Given the description of an element on the screen output the (x, y) to click on. 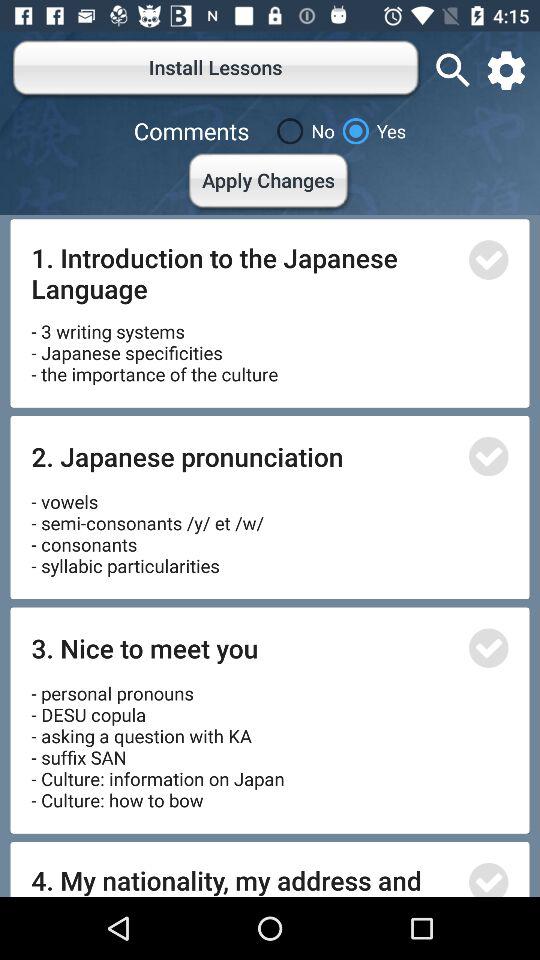
submit option (488, 647)
